Given the description of an element on the screen output the (x, y) to click on. 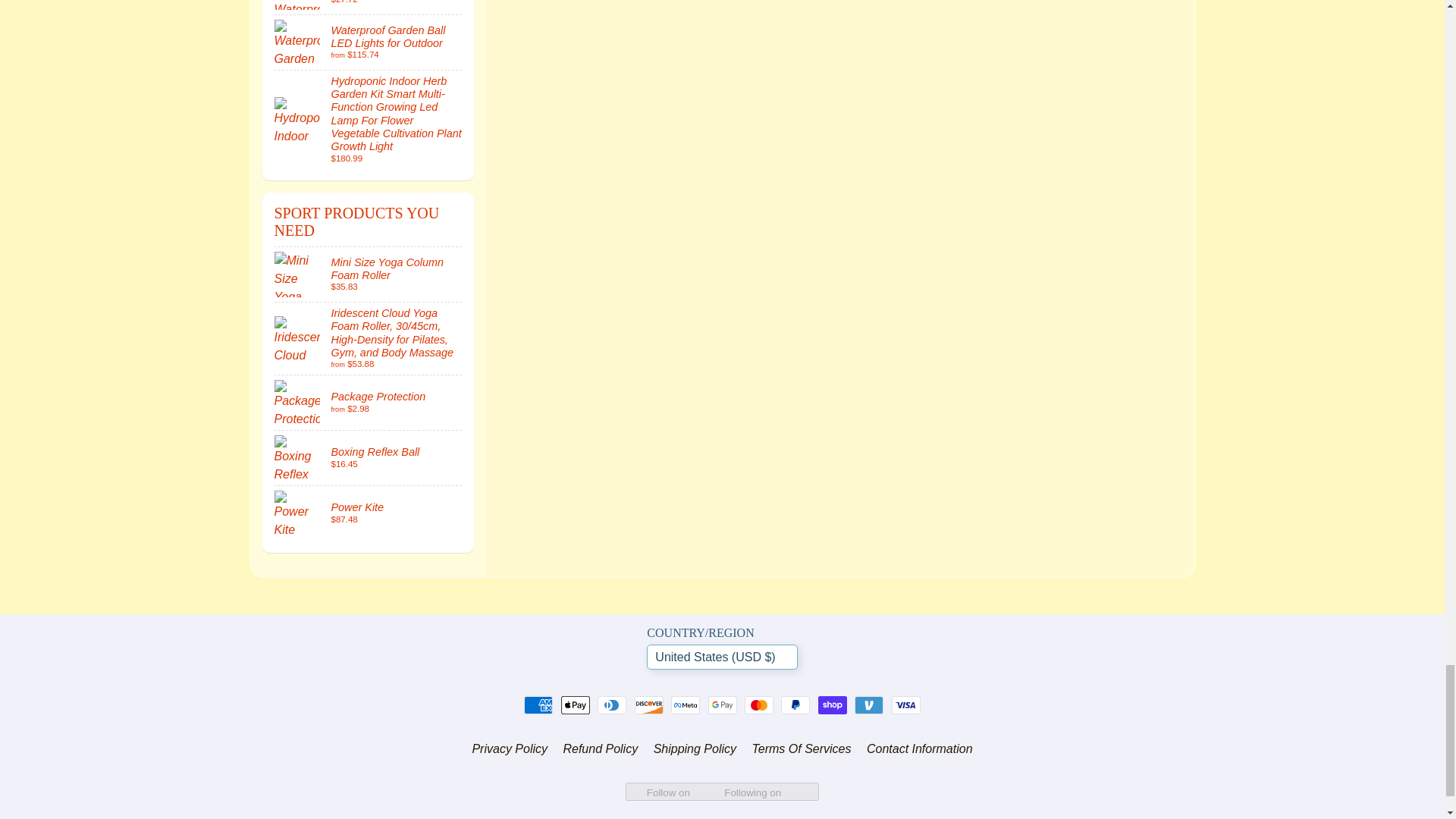
Apple Pay (574, 705)
Meta Pay (685, 705)
PayPal (794, 705)
Mastercard (758, 705)
Discover (648, 705)
American Express (538, 705)
Google Pay (721, 705)
Venmo (868, 705)
Diners Club (611, 705)
Shop Pay (832, 705)
